Given the description of an element on the screen output the (x, y) to click on. 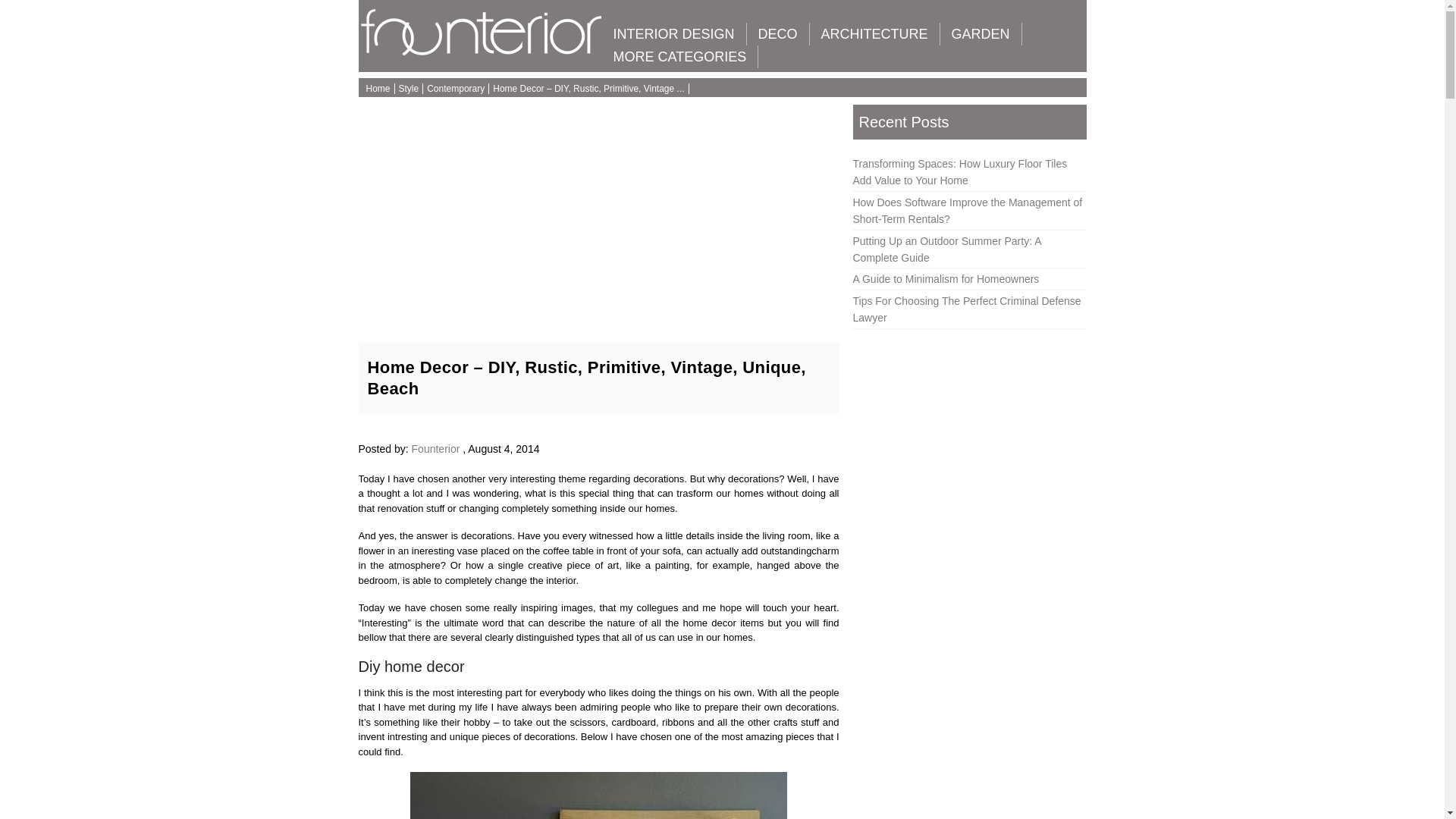
 Interior Design (673, 33)
INTERIOR DESIGN (673, 33)
Architecture (874, 33)
Decoration (777, 33)
GARDEN (981, 33)
DECO (777, 33)
ARCHITECTURE (874, 33)
Founterior (481, 51)
MORE CATEGORIES (680, 56)
